Given the description of an element on the screen output the (x, y) to click on. 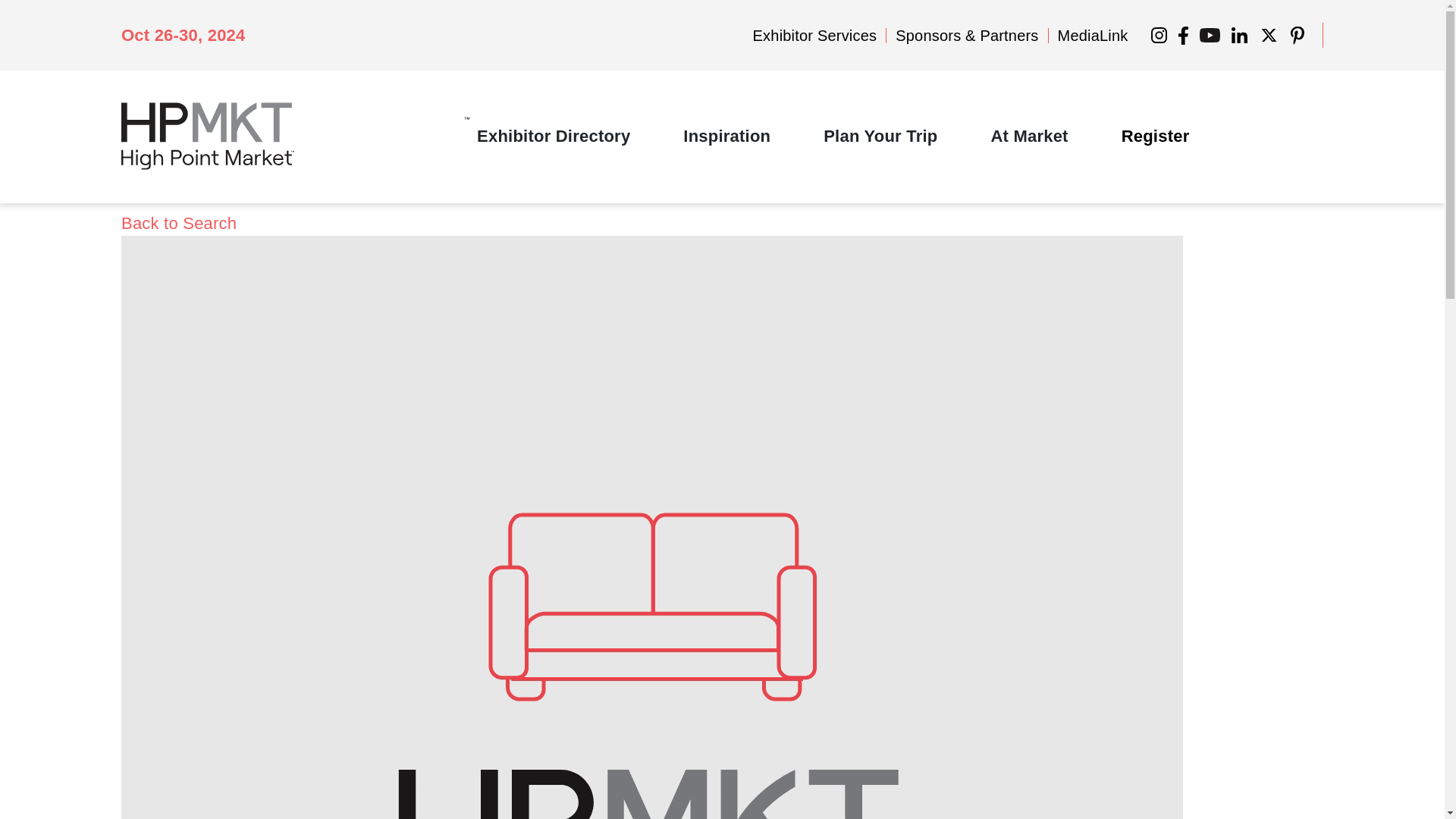
Experience Market (1028, 135)
Inspiration (726, 135)
Exhibitor Services (814, 35)
Exhibitor Directory (553, 135)
Plan Your Trip (880, 135)
MediaLink (1093, 35)
Inspiration (726, 135)
Plan Your Trip (880, 135)
Exhibitor Directory (553, 135)
